Given the description of an element on the screen output the (x, y) to click on. 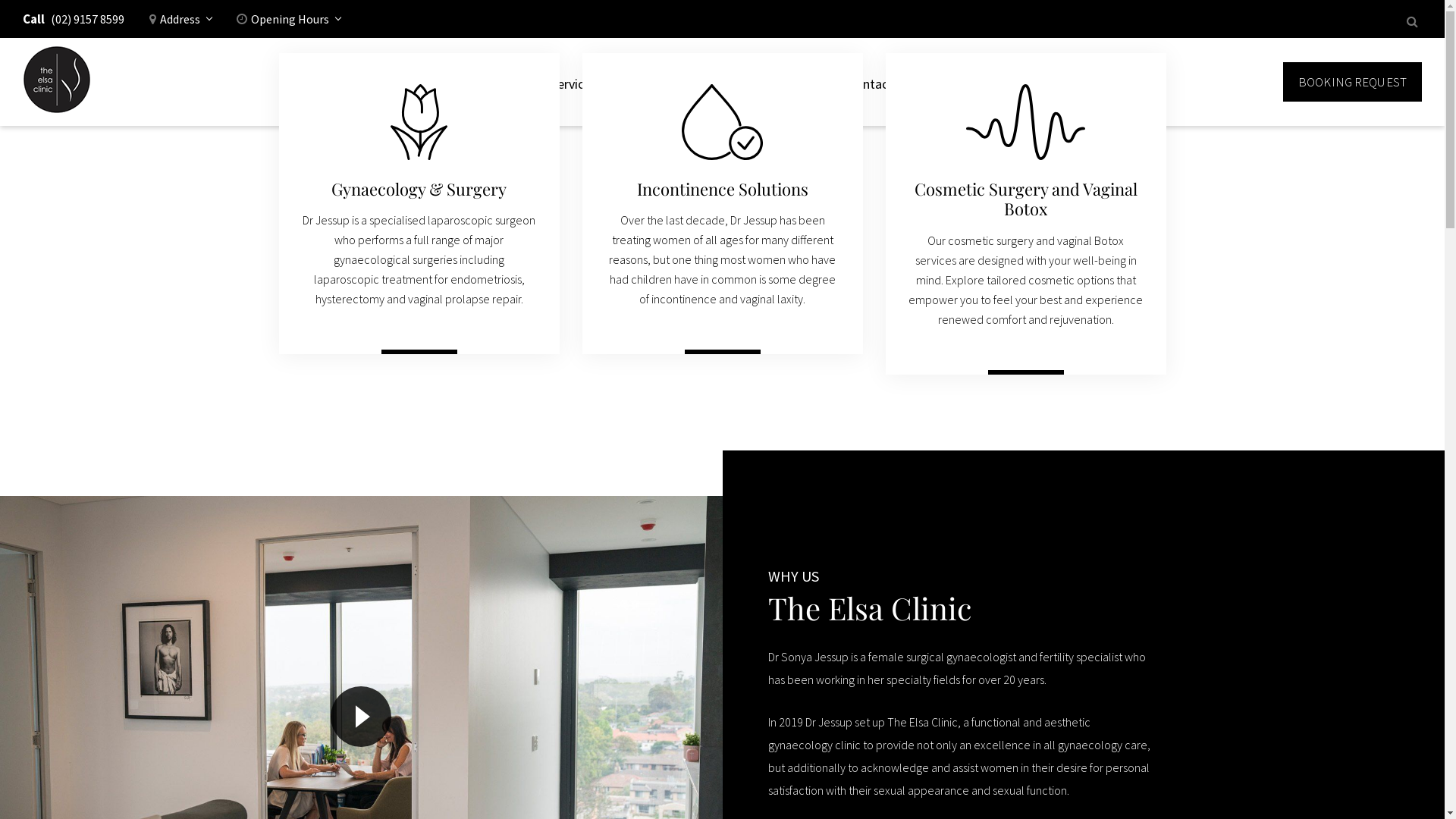
About Us Element type: text (654, 81)
Journal Element type: text (803, 81)
Contact Element type: text (870, 81)
Services Element type: text (577, 81)
Parramatta Dental Avenue Element type: hover (56, 81)
Video Now Element type: text (360, 716)
Address Element type: text (180, 23)
Home Element type: text (510, 81)
Opening Hours Element type: text (288, 23)
Read more Element type: text (721, 359)
(02) 9157 8599 Element type: text (87, 23)
Our Team Element type: text (731, 81)
Read more Element type: text (1025, 380)
BOOKING REQUEST Element type: text (1352, 81)
Read more Element type: text (418, 359)
